Given the description of an element on the screen output the (x, y) to click on. 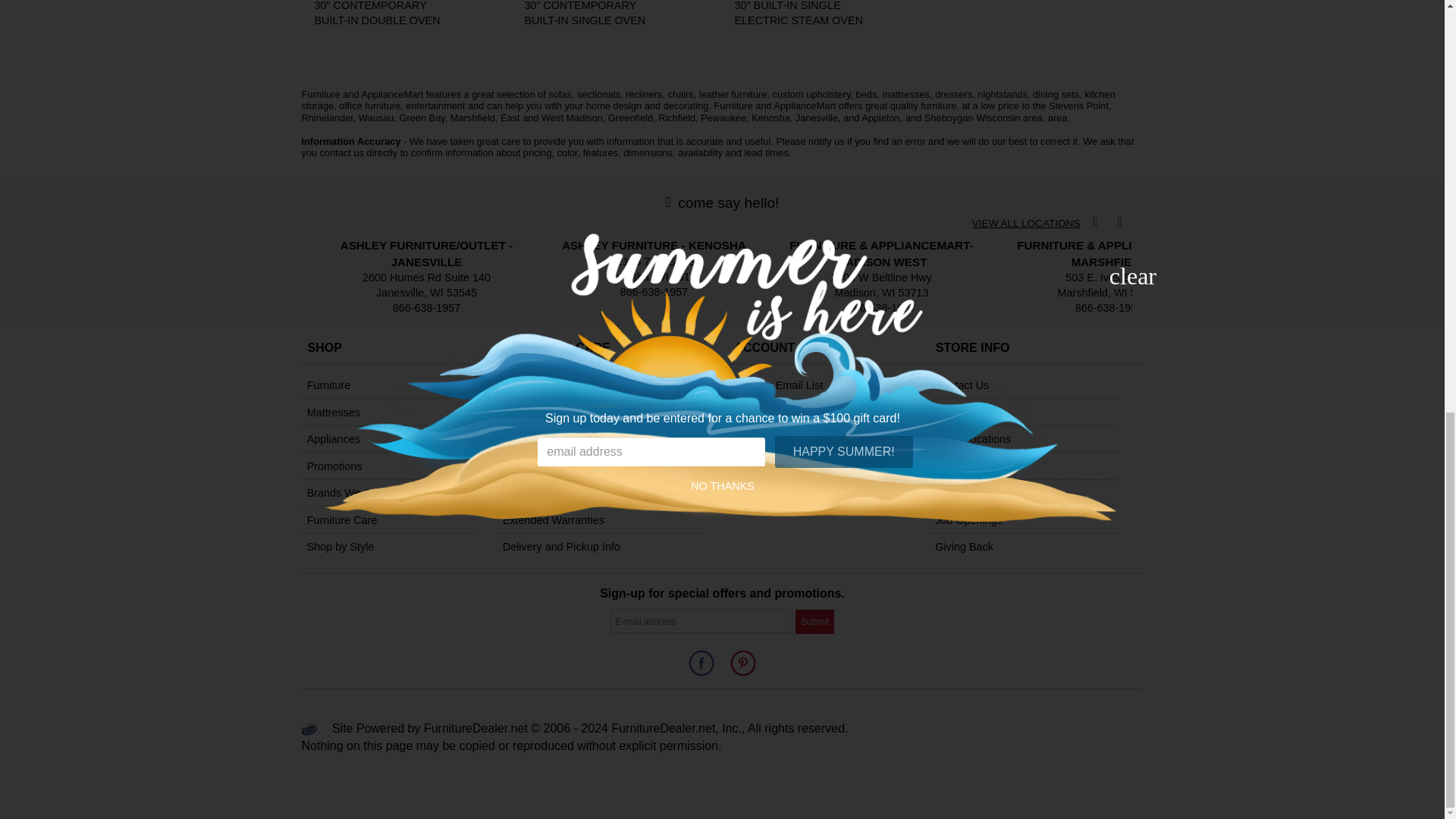
Submit (814, 621)
Click to view this Item. (801, 13)
Click to view this Item. (592, 13)
Click to view this Item. (381, 13)
